Given the description of an element on the screen output the (x, y) to click on. 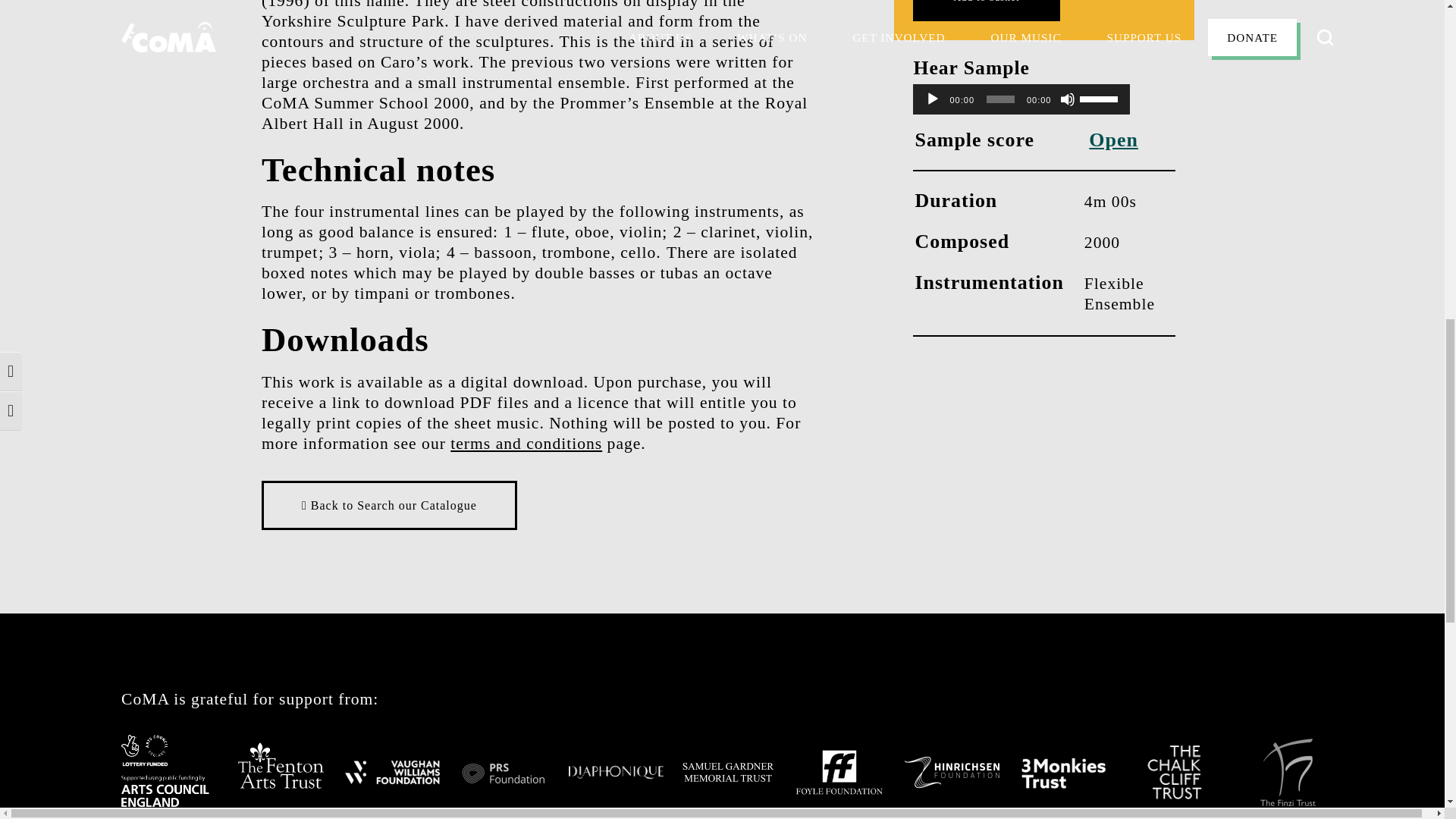
Back to Search our Catalogue (389, 504)
Mute (1067, 99)
terms and conditions (525, 443)
Play (932, 99)
Add to basket (985, 10)
